Given the description of an element on the screen output the (x, y) to click on. 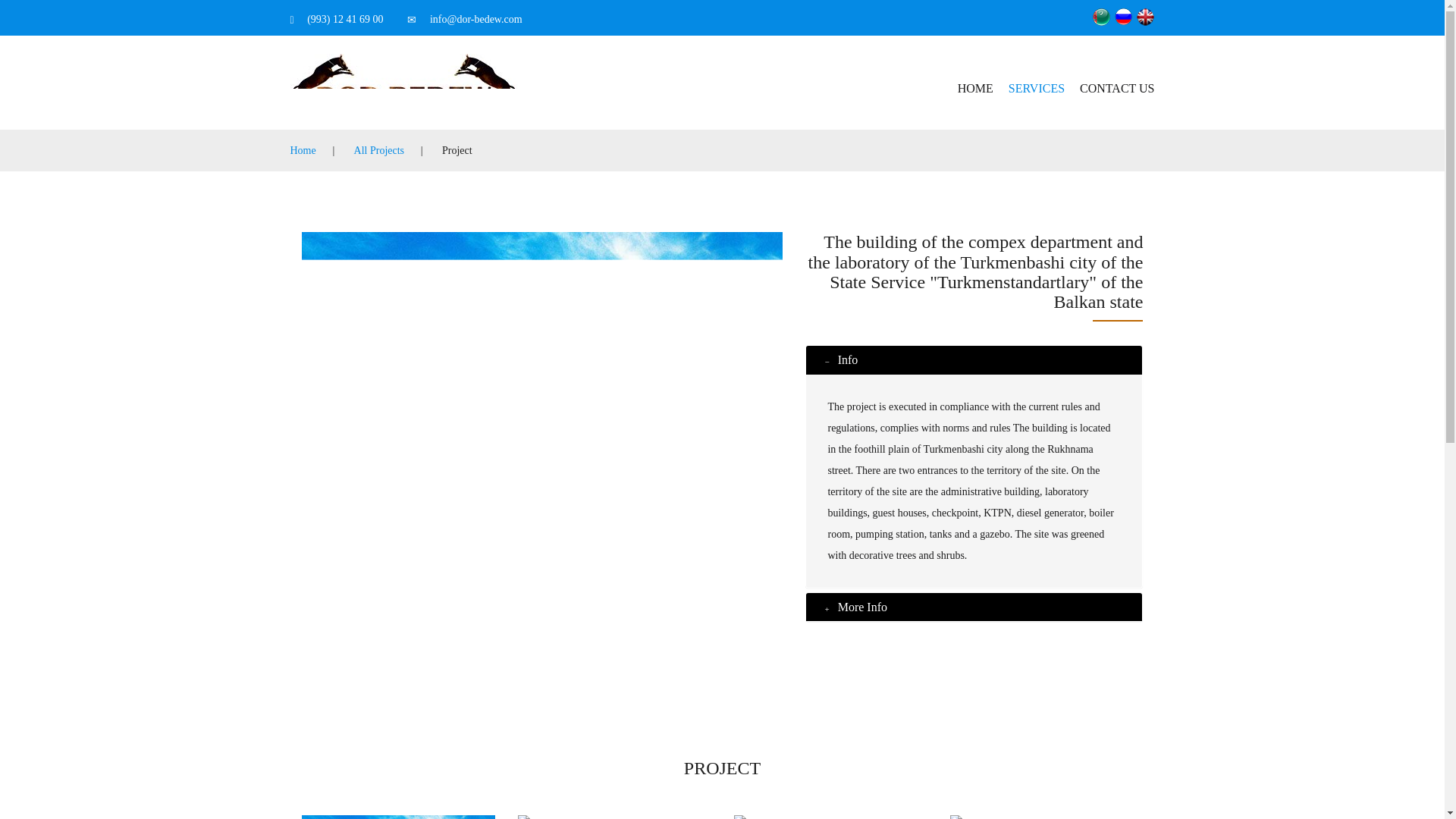
All Projects (378, 150)
CONTACT US (1112, 81)
Info (844, 359)
Home (302, 150)
SERVICES (1036, 81)
English (1144, 16)
HOME (975, 81)
More Info (859, 606)
